Given the description of an element on the screen output the (x, y) to click on. 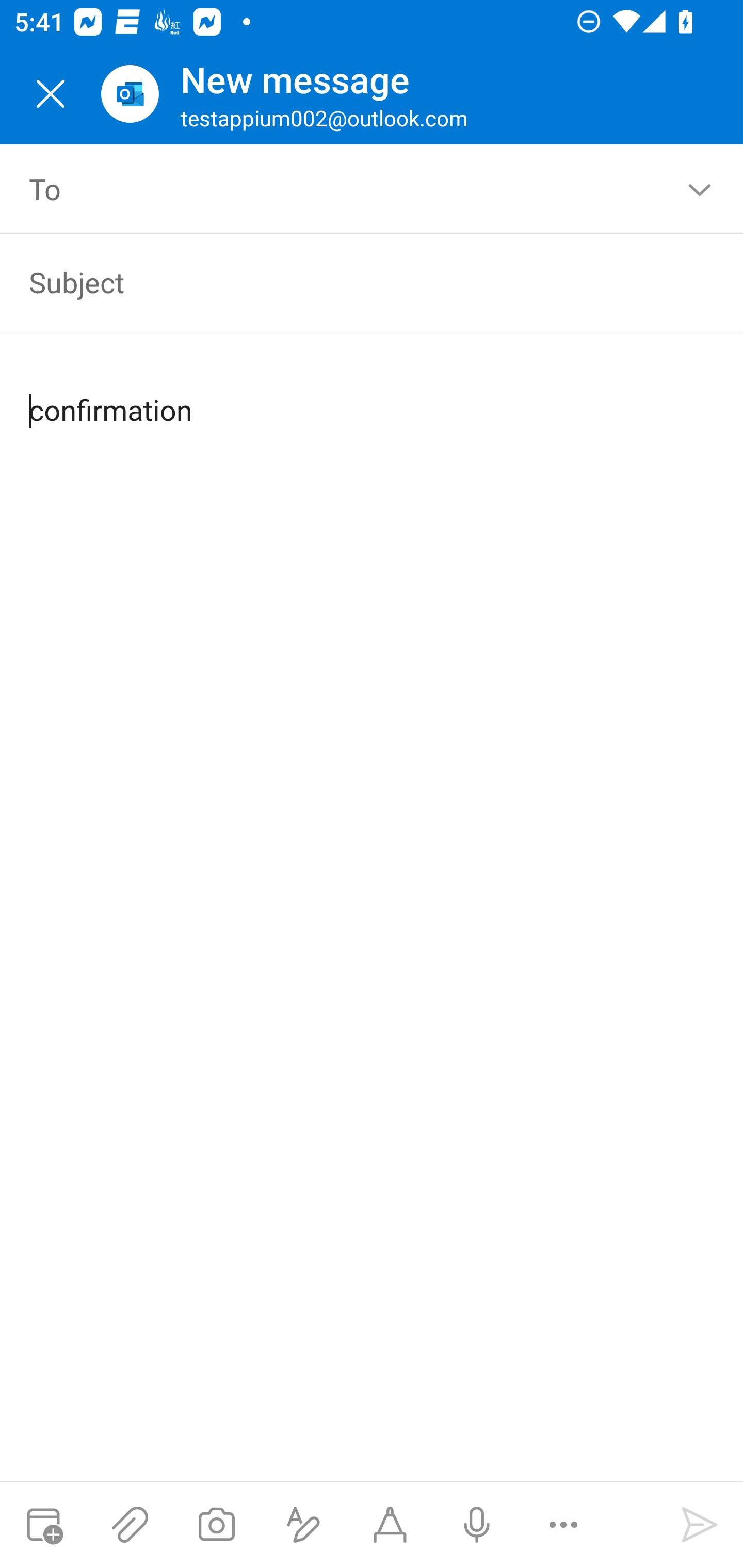
Close (50, 93)
Subject (342, 281)

confirmation (372, 394)
Attach meeting (43, 1524)
Attach files (129, 1524)
Take a photo (216, 1524)
Show formatting options (303, 1524)
Start Ink compose (389, 1524)
Dictation (476, 1524)
More options (563, 1524)
Send (699, 1524)
